Given the description of an element on the screen output the (x, y) to click on. 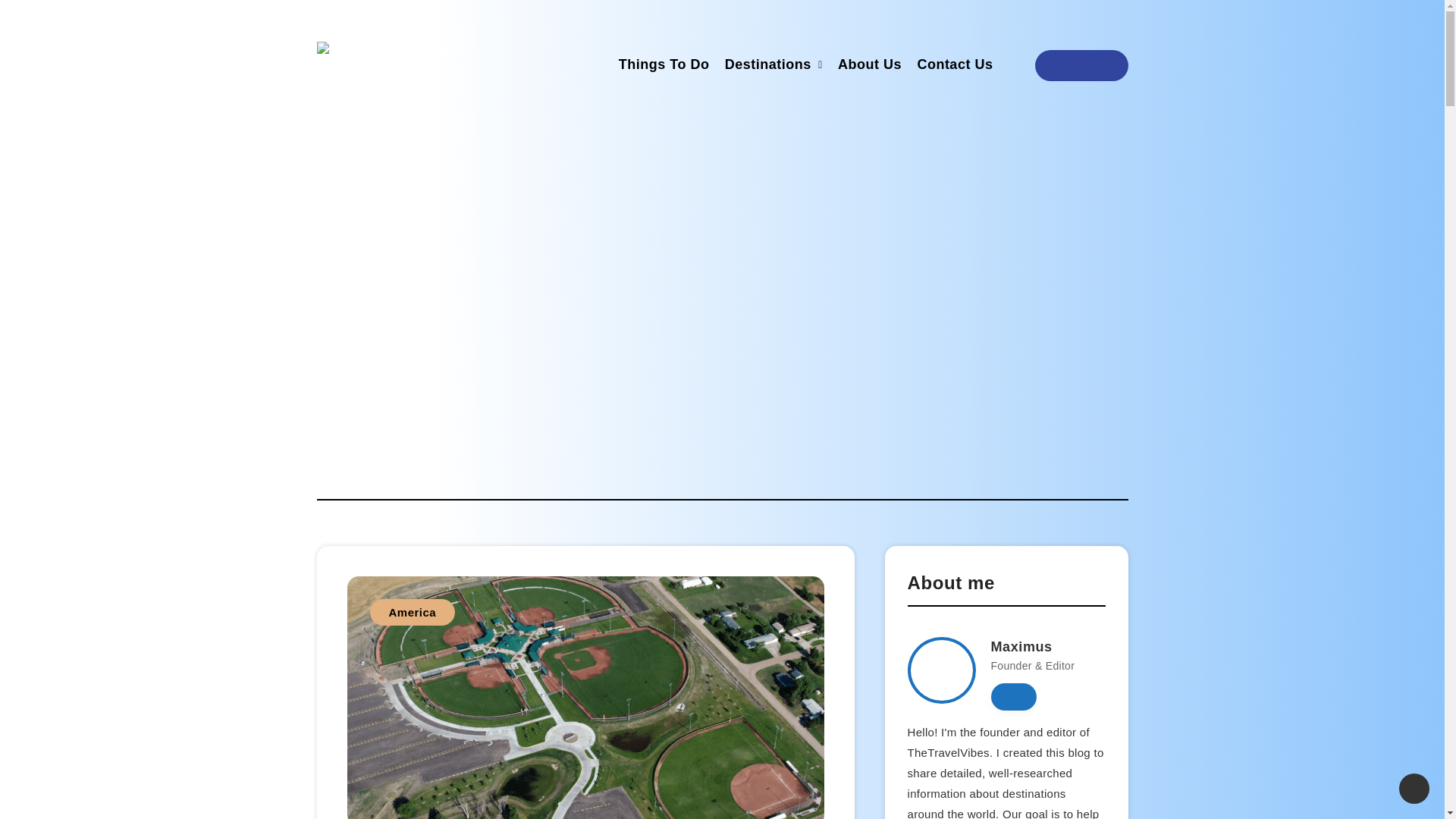
About Us (869, 65)
Things To Do (664, 65)
Destinations (767, 65)
Contact Us (954, 65)
America (412, 611)
